Given the description of an element on the screen output the (x, y) to click on. 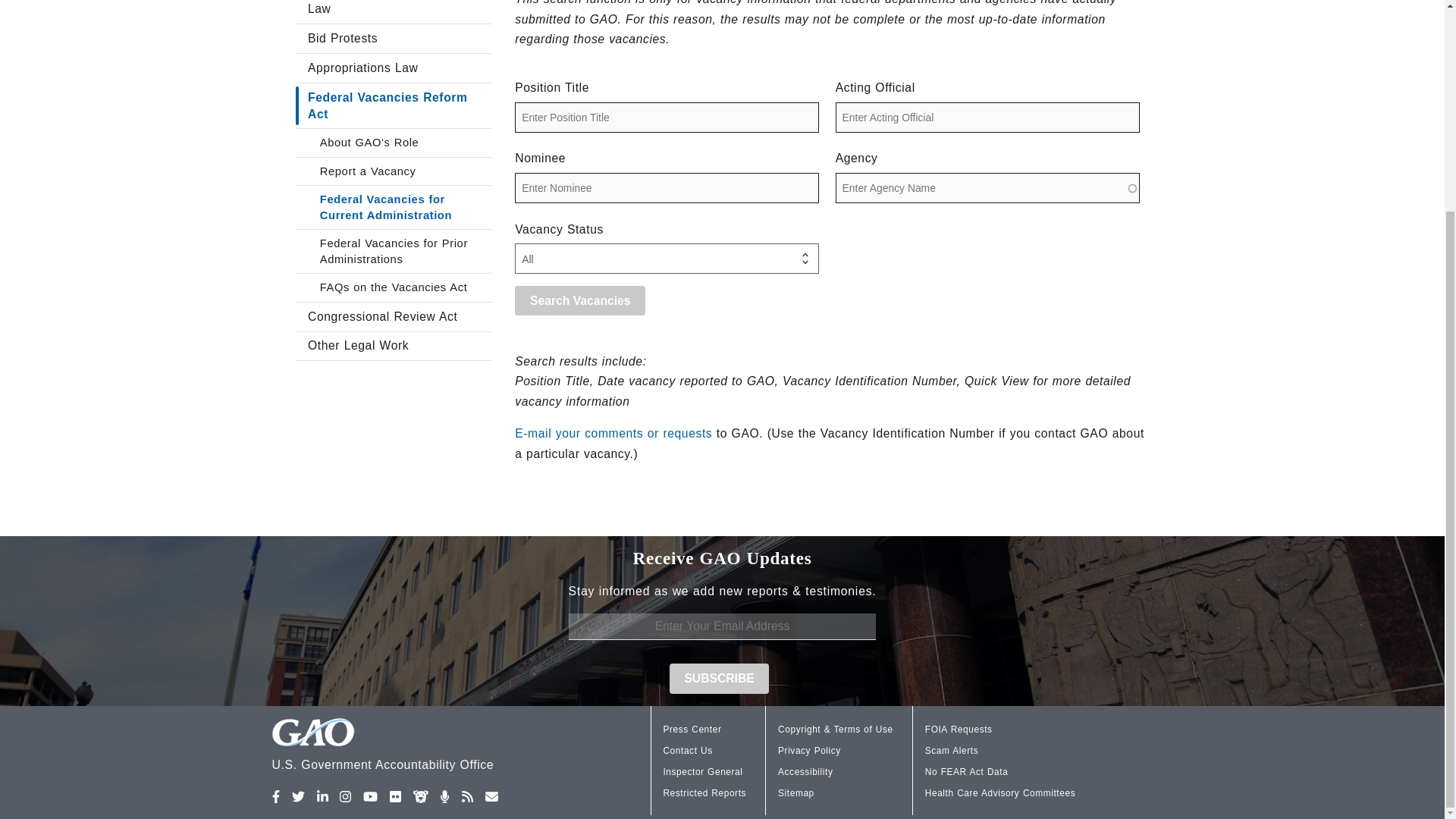
Report a Vacancy (392, 171)
Enter Acting Official (987, 117)
Search Vacancies (580, 300)
Other Legal Work (392, 346)
Subscribe (719, 677)
Appropriations Law (392, 68)
Enter Agency Name (987, 187)
Federal Vacancies for Current Administration (392, 207)
FAQs on the Vacancies Act (392, 287)
Congressional Review Act (392, 316)
Home (421, 747)
Federal Vacancies for Prior Administrations (392, 251)
E-mail your comments or requests (613, 432)
Bid Protests (392, 38)
Enter Position Title (666, 117)
